Given the description of an element on the screen output the (x, y) to click on. 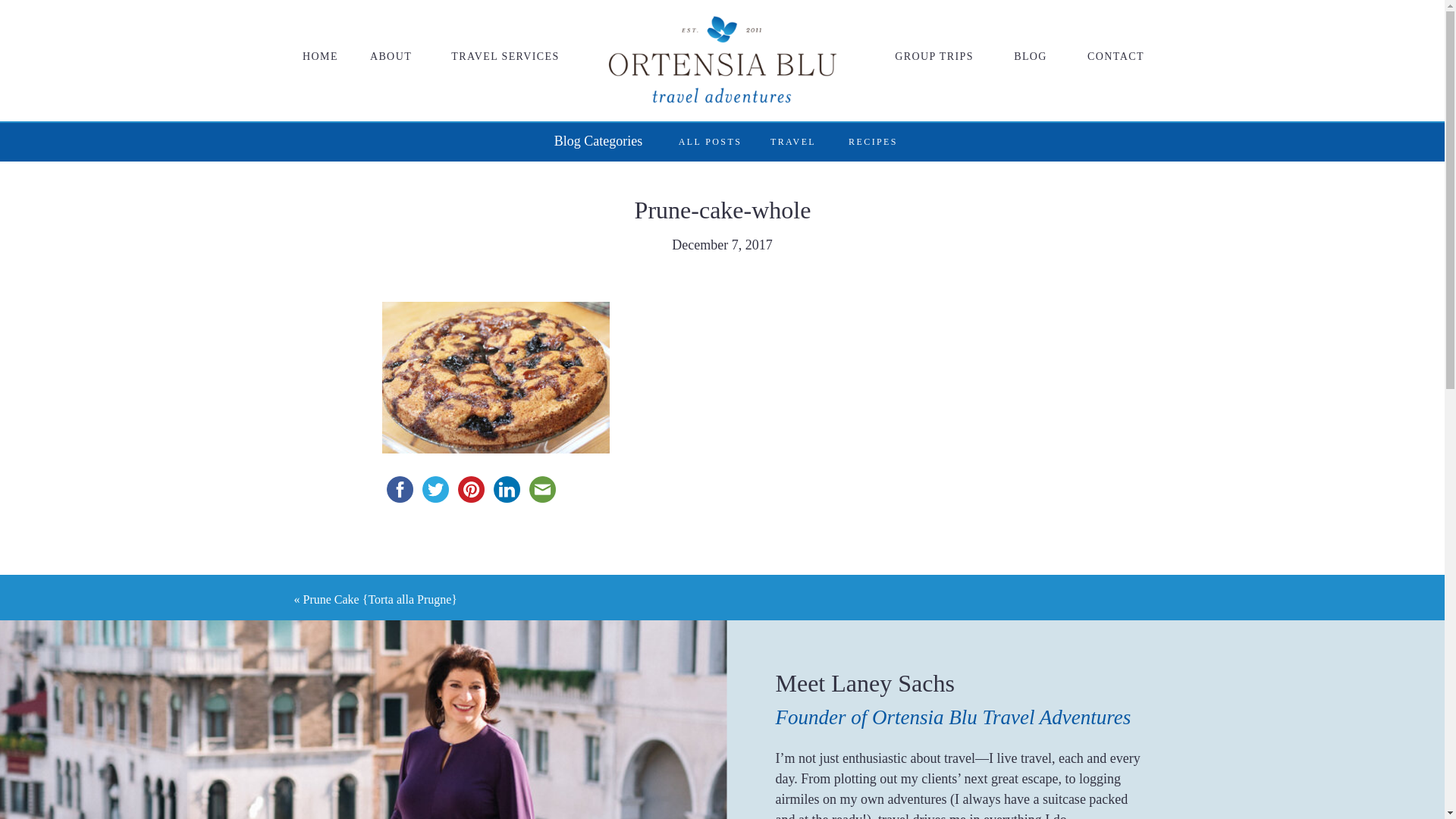
LinkedIn (505, 488)
BLOG (976, 35)
Facebook (399, 488)
GROUP TRIPS (880, 35)
TRAVEL SERVICES (505, 57)
GROUP TRIPS (933, 57)
Twitter (434, 488)
HOME (319, 57)
HOME (357, 35)
CONTACT (1062, 35)
ABOUT (426, 35)
ALL POSTS (710, 143)
BLOG (1029, 57)
RECIPES (872, 143)
TRAVEL SERVICES (541, 35)
